Given the description of an element on the screen output the (x, y) to click on. 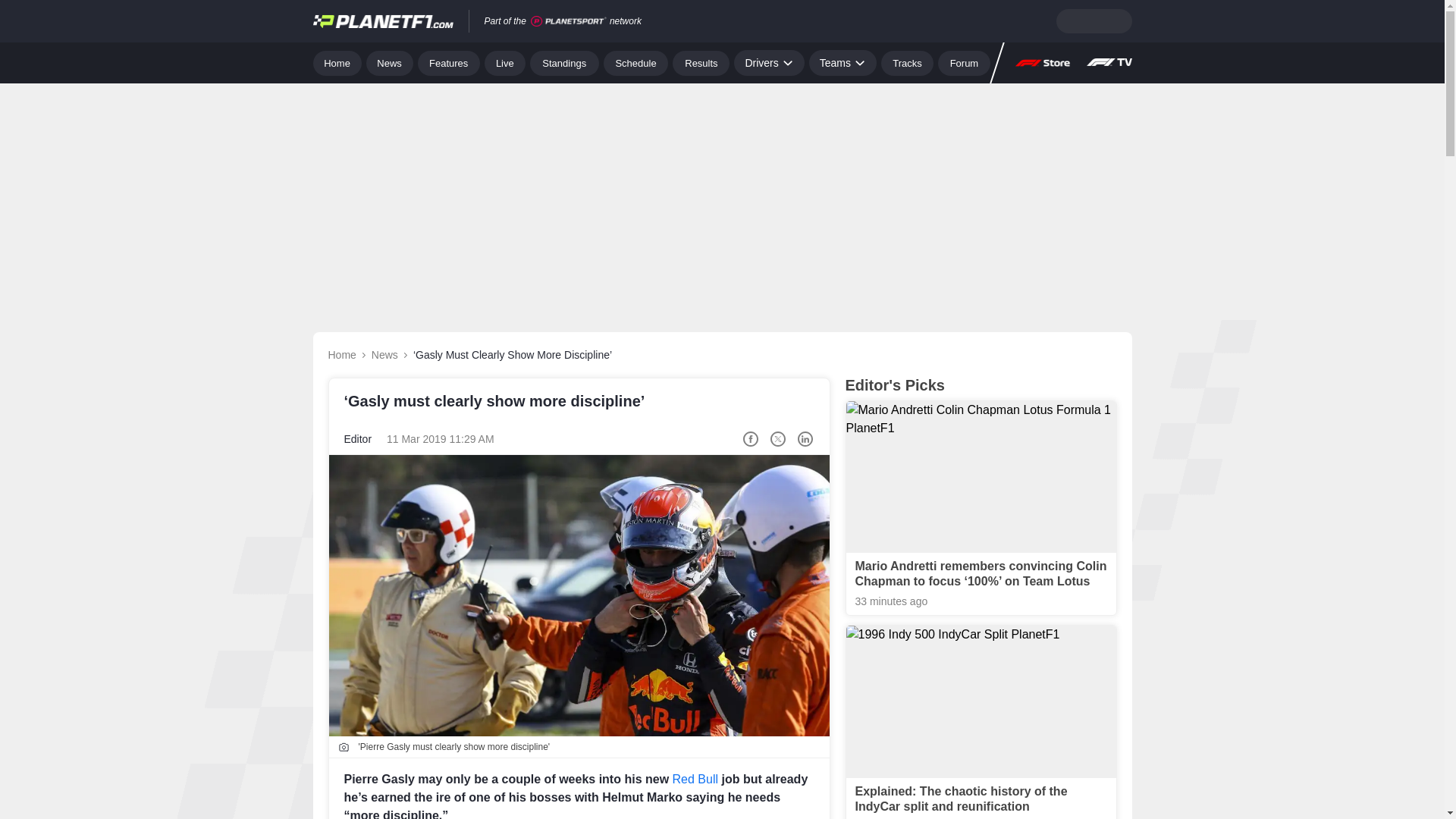
Schedule (636, 62)
Teams (842, 62)
Standings (563, 62)
Features (448, 62)
Live (504, 62)
Home (337, 62)
News (389, 62)
Results (700, 62)
Drivers (768, 62)
